Given the description of an element on the screen output the (x, y) to click on. 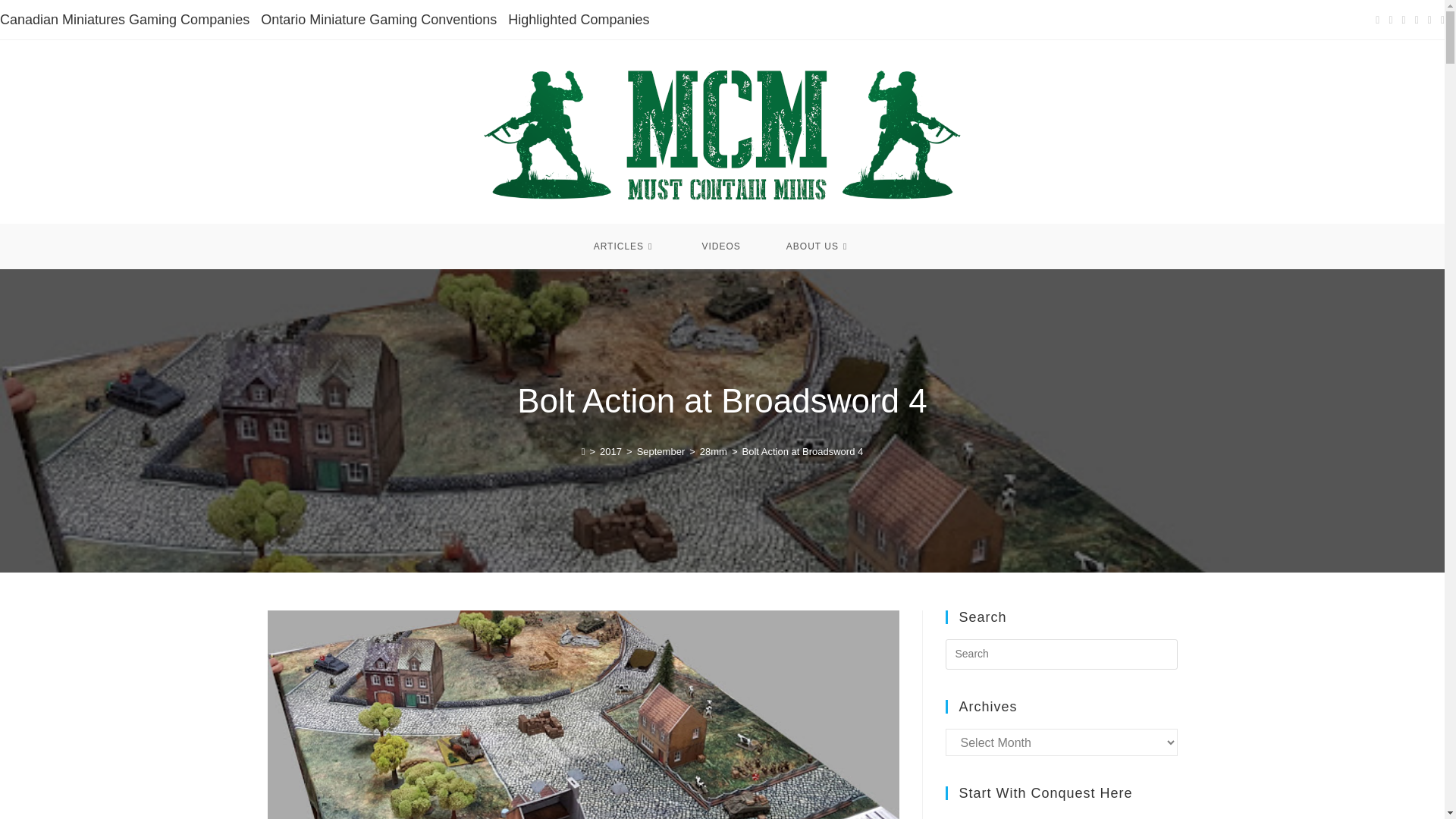
ARTICLES (624, 246)
Canadian Miniatures Gaming Companies (124, 19)
Highlighted Companies (578, 19)
VIDEOS (720, 246)
ABOUT US (818, 246)
Ontario Miniature Gaming Conventions (378, 19)
